Given the description of an element on the screen output the (x, y) to click on. 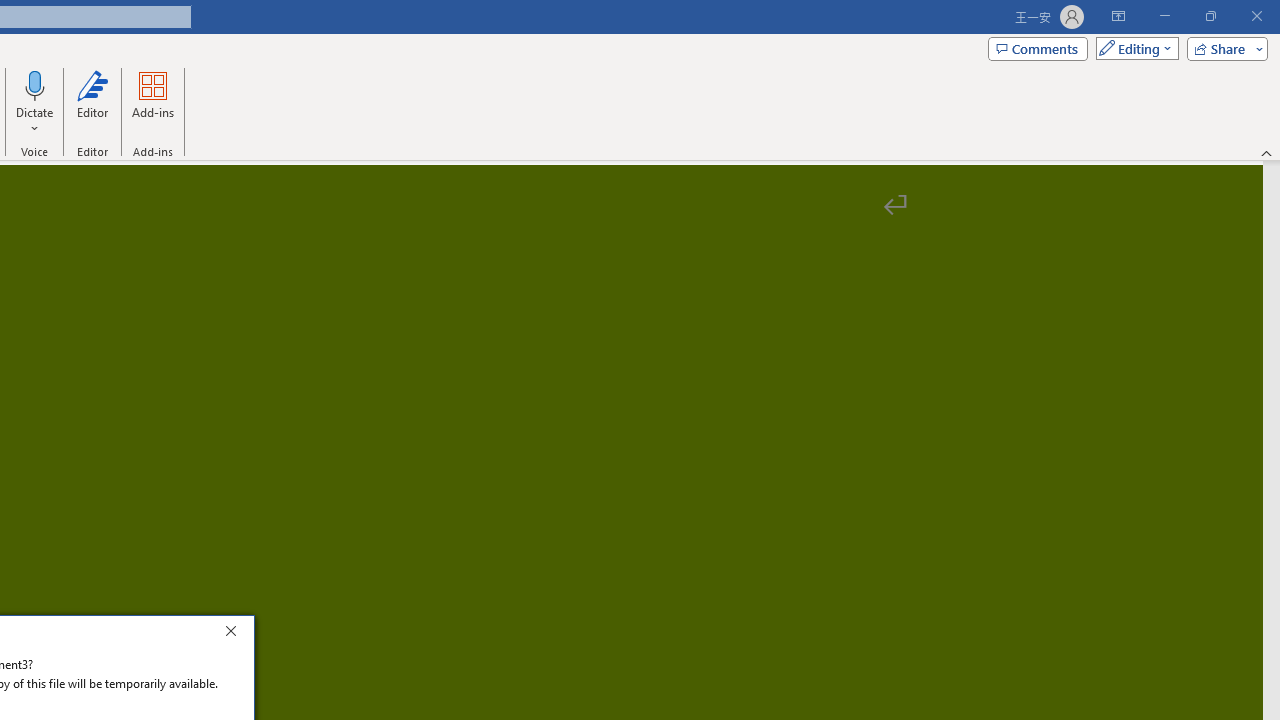
Close (236, 633)
Share (1223, 48)
Restore Down (1210, 16)
Mode (1133, 47)
Ribbon Display Options (1118, 16)
Editor (92, 102)
Minimize (1164, 16)
More Options (35, 121)
Dictate (35, 84)
Collapse the Ribbon (1267, 152)
Comments (1038, 48)
Dictate (35, 102)
